Given the description of an element on the screen output the (x, y) to click on. 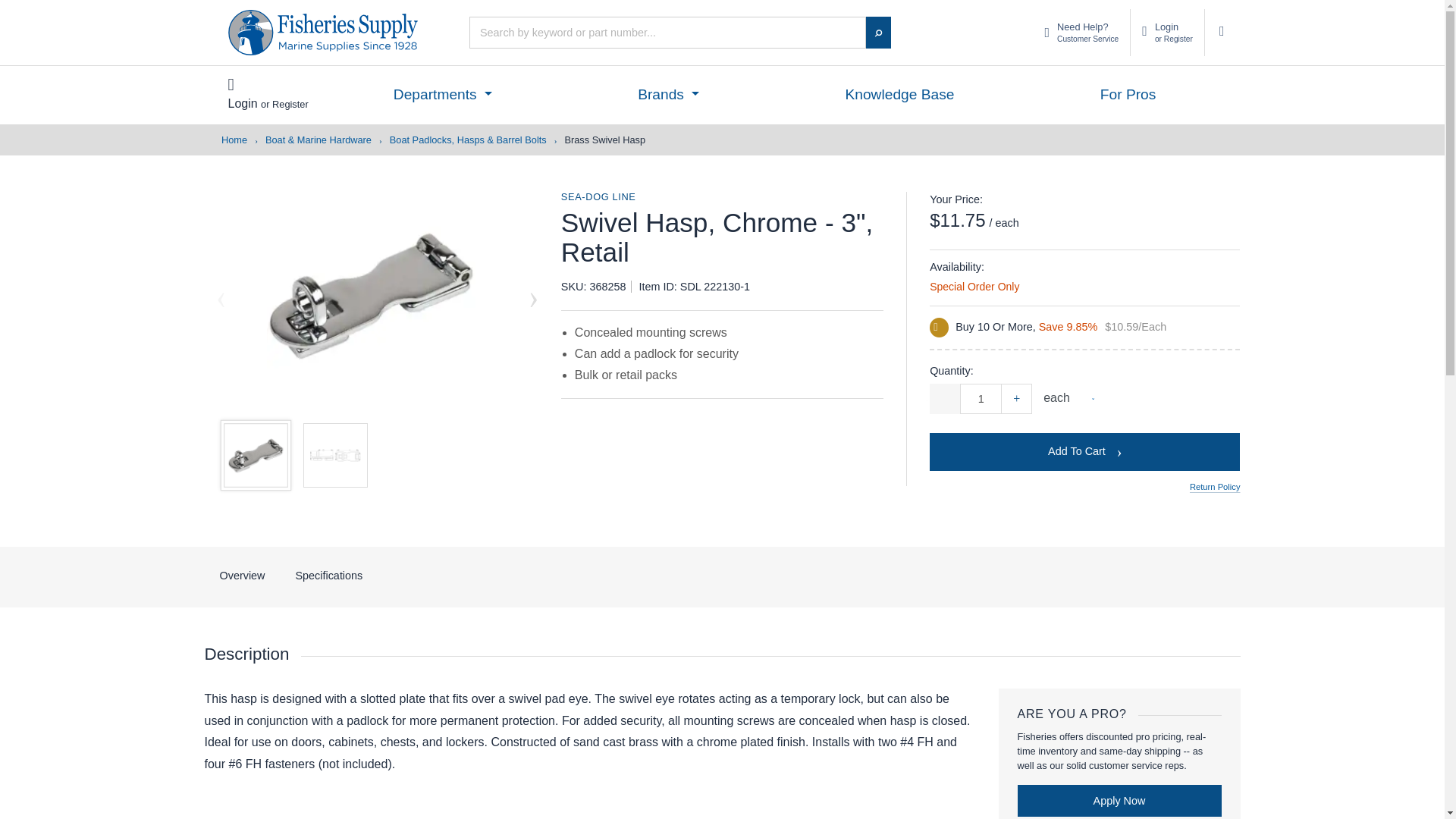
Login or Register (1080, 32)
1 (1167, 32)
